Given the description of an element on the screen output the (x, y) to click on. 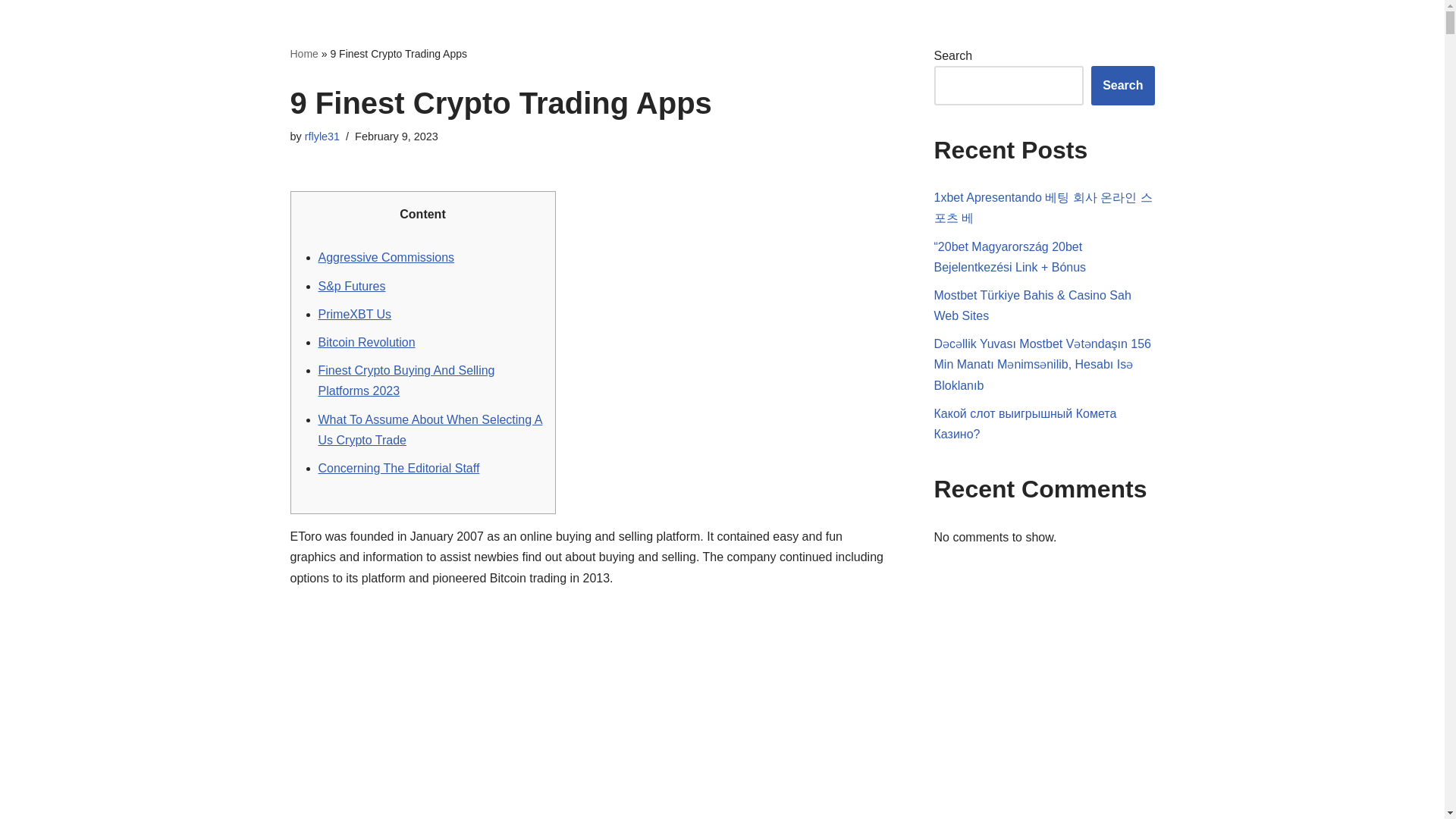
What To Assume About When Selecting A Us Crypto Trade (430, 429)
Home (303, 53)
Finest Crypto Buying And Selling Platforms 2023 (406, 380)
rflyle31 (321, 136)
Aggressive Commissions (386, 256)
Posts by rflyle31 (321, 136)
Bitcoin Revolution (366, 341)
Skip to content (11, 31)
Concerning The Editorial Staff (399, 468)
PrimeXBT Us (354, 314)
